Given the description of an element on the screen output the (x, y) to click on. 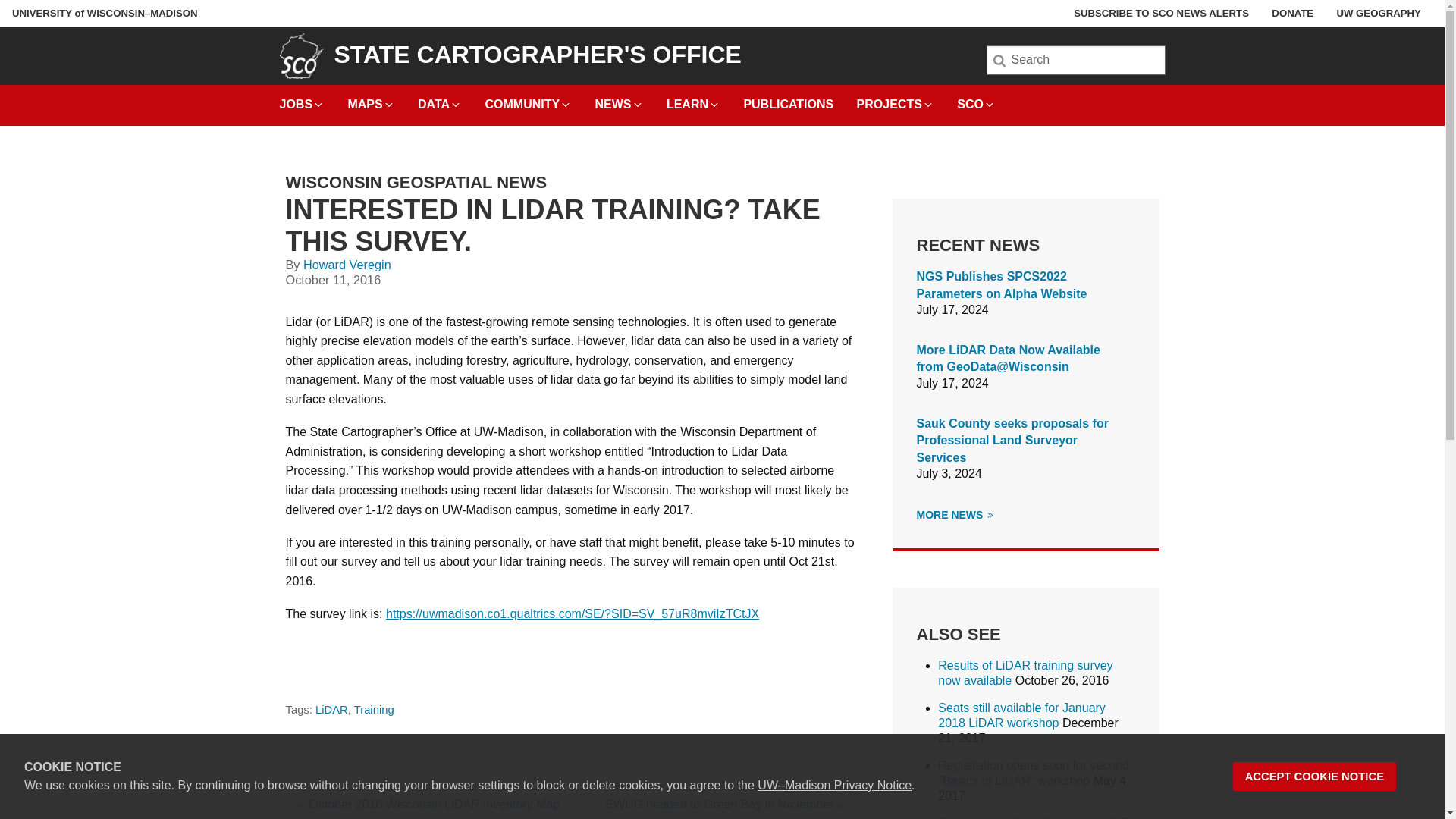
ACCEPT COOKIE NOTICE (1314, 776)
JOBS EXPAND (301, 100)
EXPAND (565, 104)
EXPAND (388, 104)
NEWS EXPAND (619, 100)
EXPAND (989, 104)
STATE CARTOGRAPHER'S OFFICE (537, 53)
MORE (989, 514)
Skip to main content (3, 3)
MAPS EXPAND (370, 100)
COMMUNITY EXPAND (528, 100)
EXPAND (318, 104)
EXPAND (713, 104)
EXPAND (637, 104)
Search (37, 16)
